Given the description of an element on the screen output the (x, y) to click on. 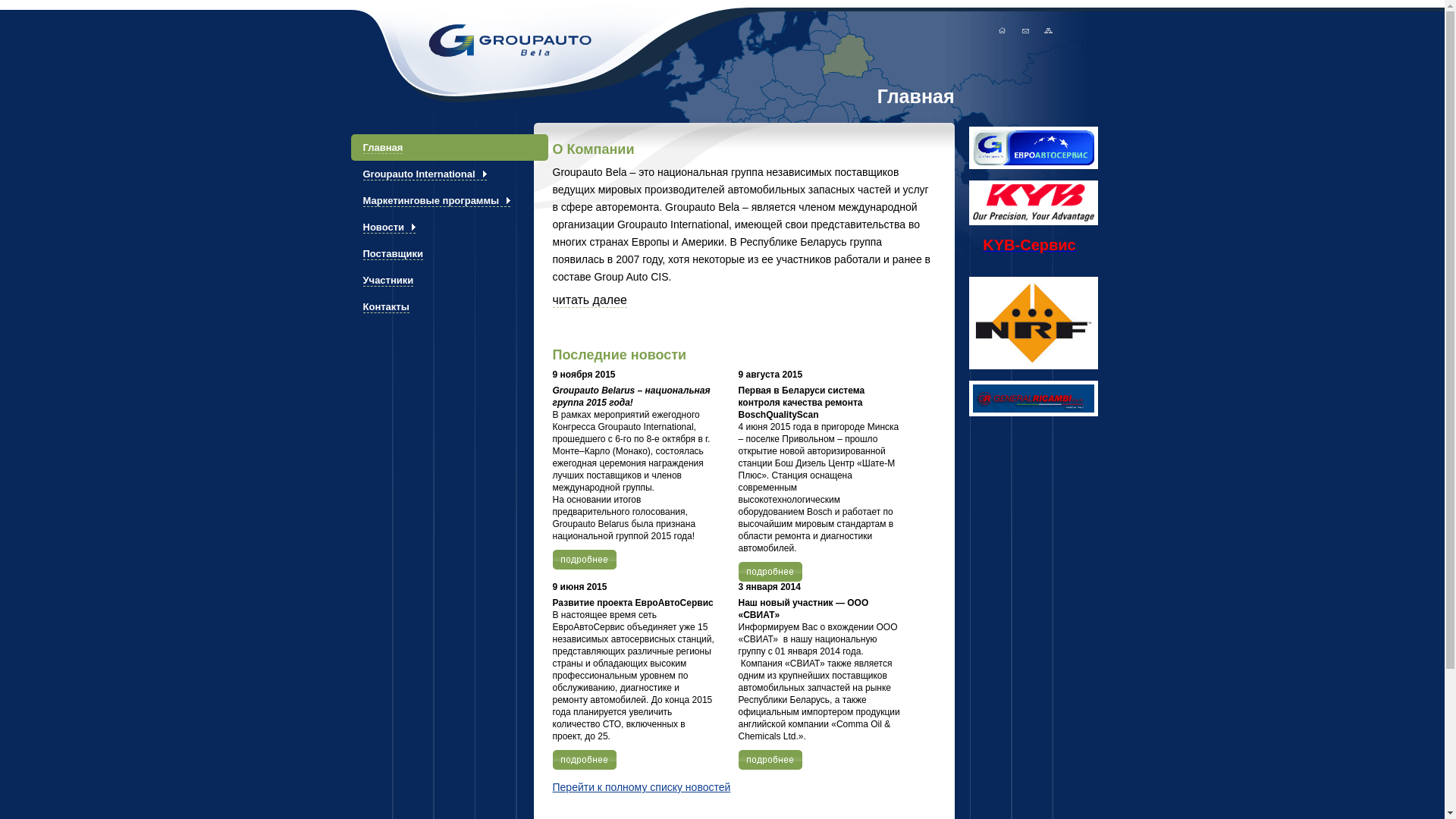
Groupauto International Element type: text (441, 173)
GROUPAUTO BELA Element type: text (476, 40)
